Given the description of an element on the screen output the (x, y) to click on. 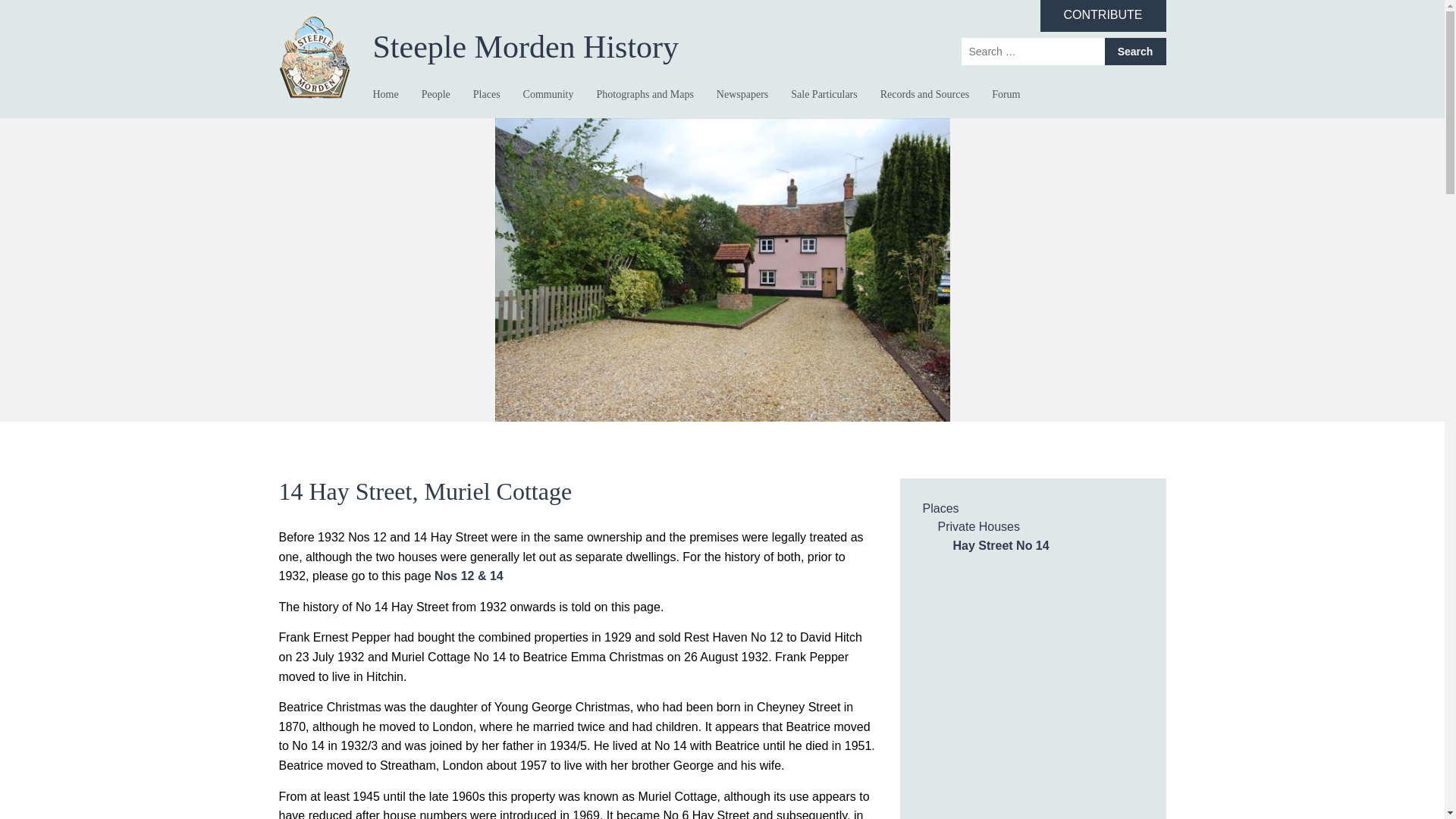
Search (1134, 51)
Sale Particulars (823, 93)
Community (547, 93)
Home (385, 93)
People (435, 93)
Records and Sources (924, 93)
Search (1134, 51)
Places (486, 93)
Search for: (1032, 51)
Photographs and Maps (644, 93)
Newspapers (742, 93)
